Given the description of an element on the screen output the (x, y) to click on. 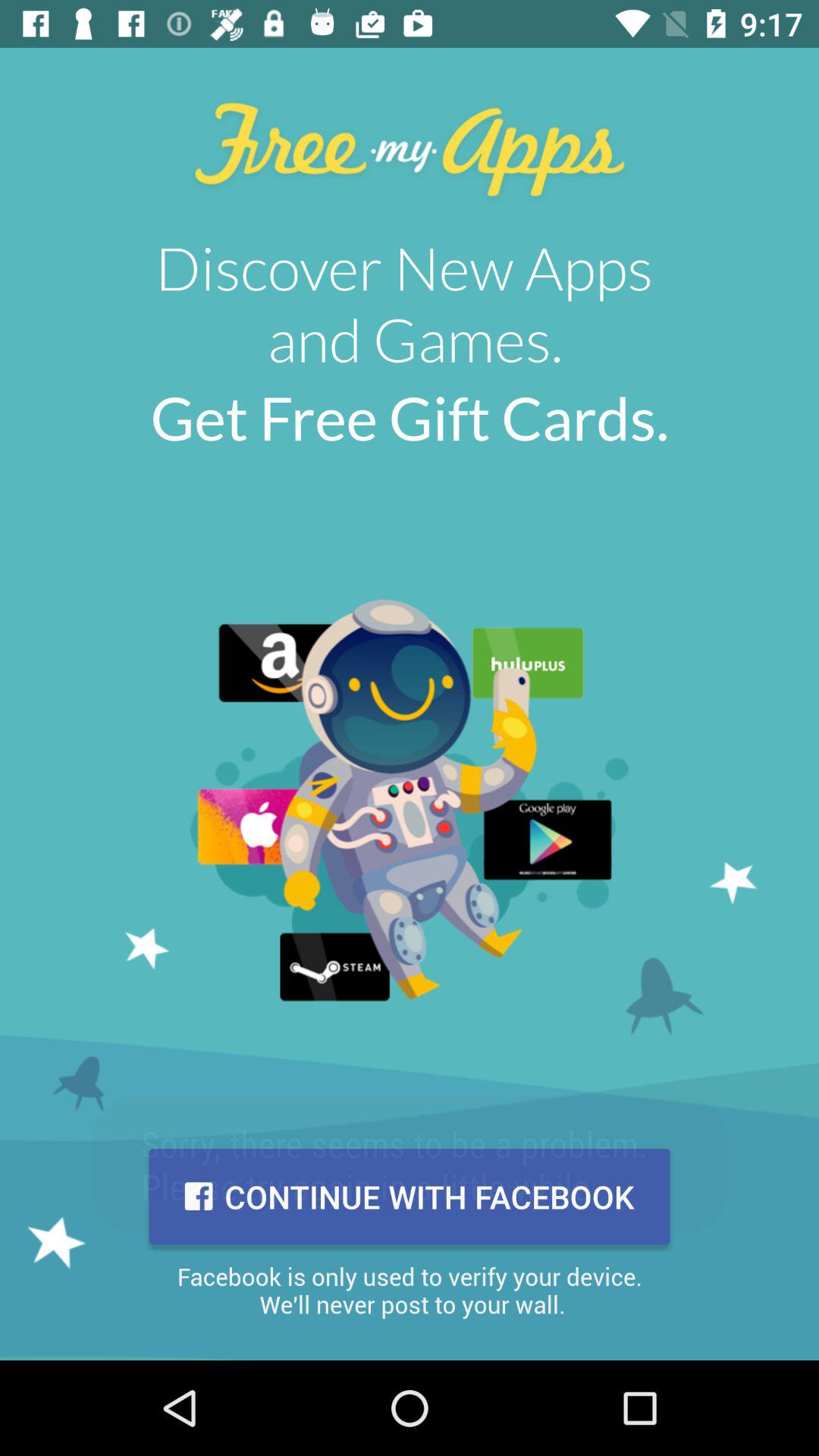
swipe until the continue with facebook item (409, 1196)
